Given the description of an element on the screen output the (x, y) to click on. 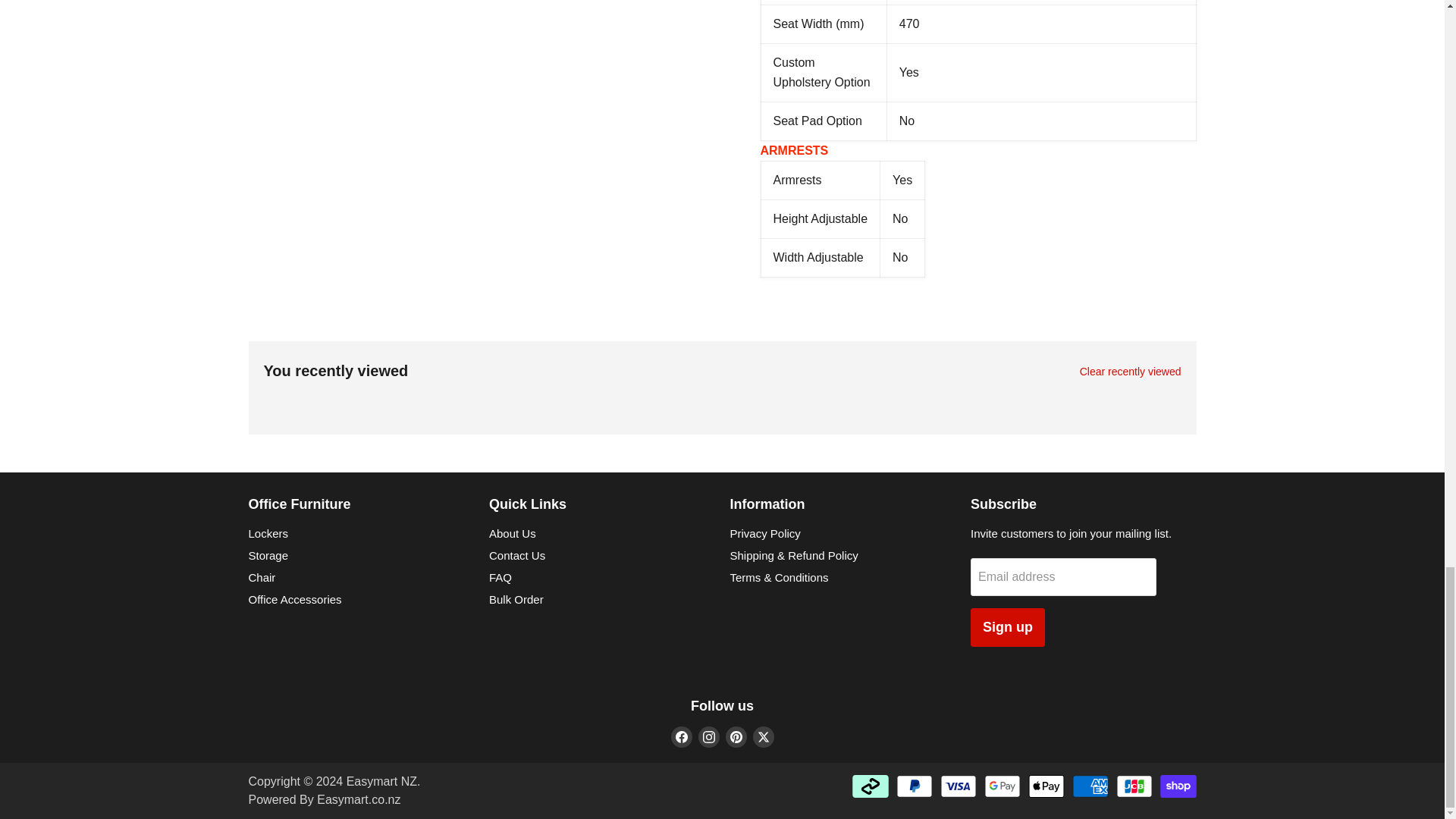
Pinterest (735, 736)
Instagram (708, 736)
Facebook (680, 736)
Twitter (762, 736)
